Given the description of an element on the screen output the (x, y) to click on. 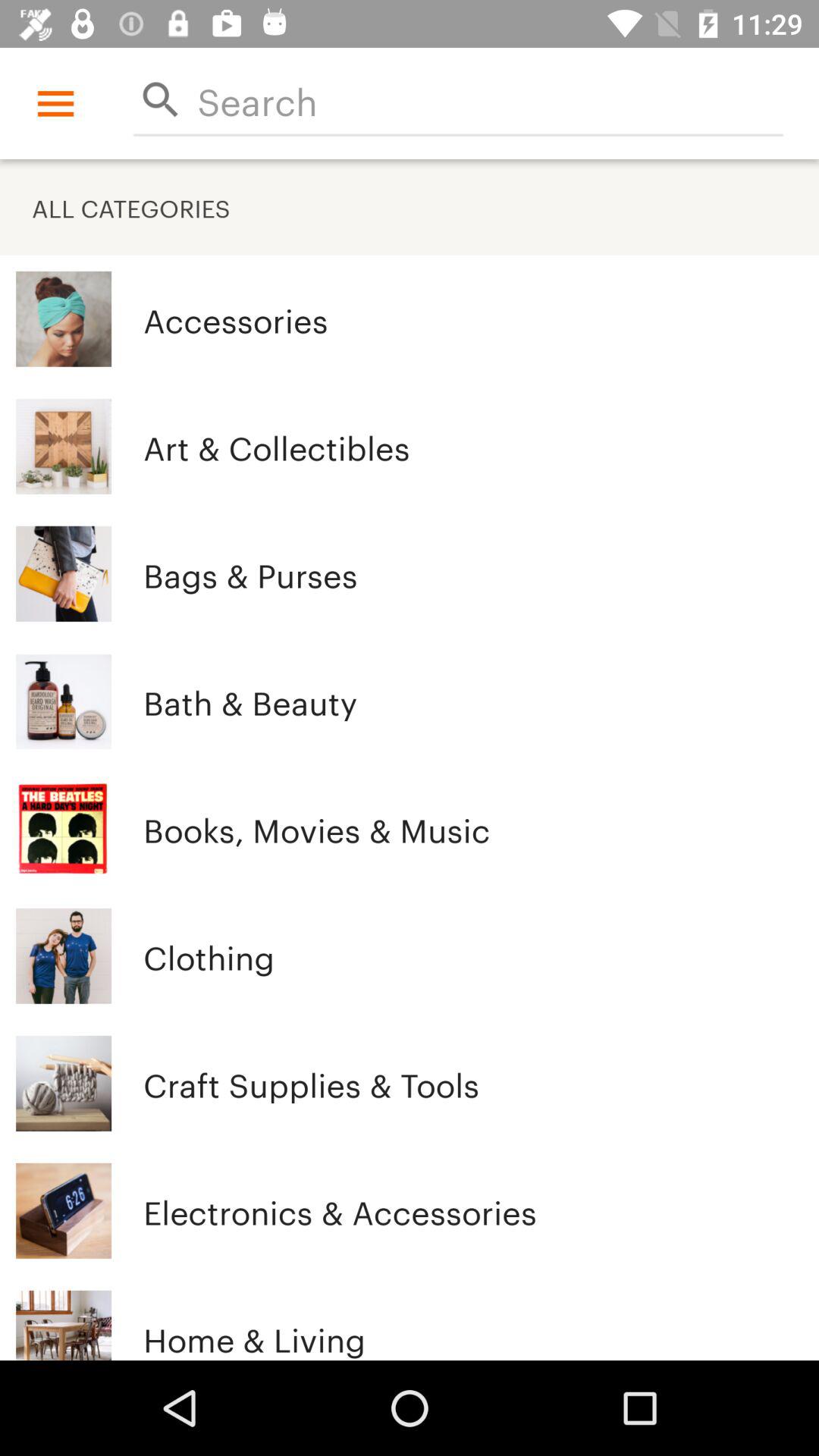
press item above all categories icon (490, 99)
